Given the description of an element on the screen output the (x, y) to click on. 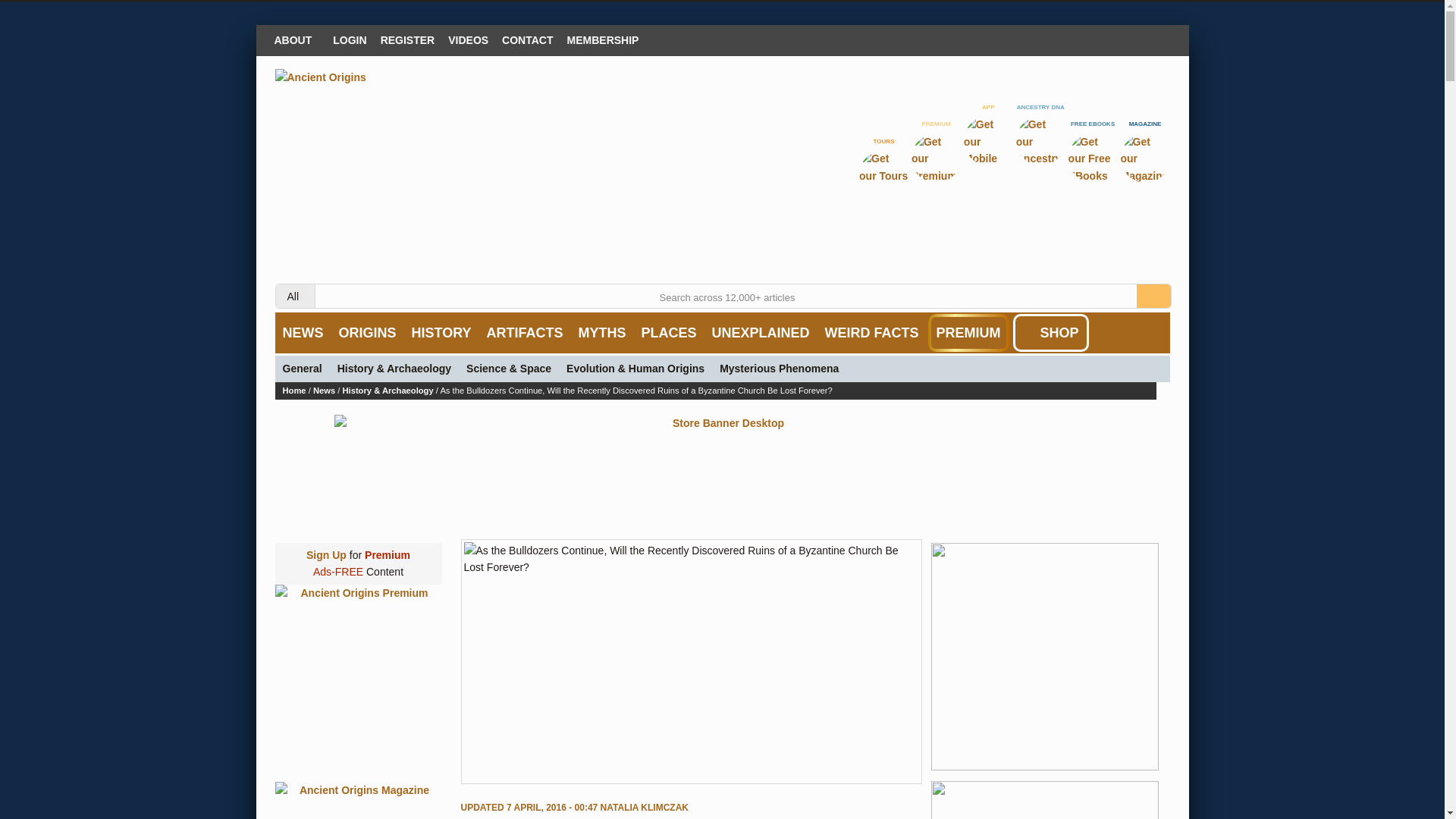
LOGIN (349, 40)
VIDEOS (468, 40)
Contact us (526, 40)
Become a registered user (408, 40)
ABOUT (296, 40)
REGISTER (408, 40)
CONTACT (526, 40)
Login (349, 40)
Find (1152, 295)
